Given the description of an element on the screen output the (x, y) to click on. 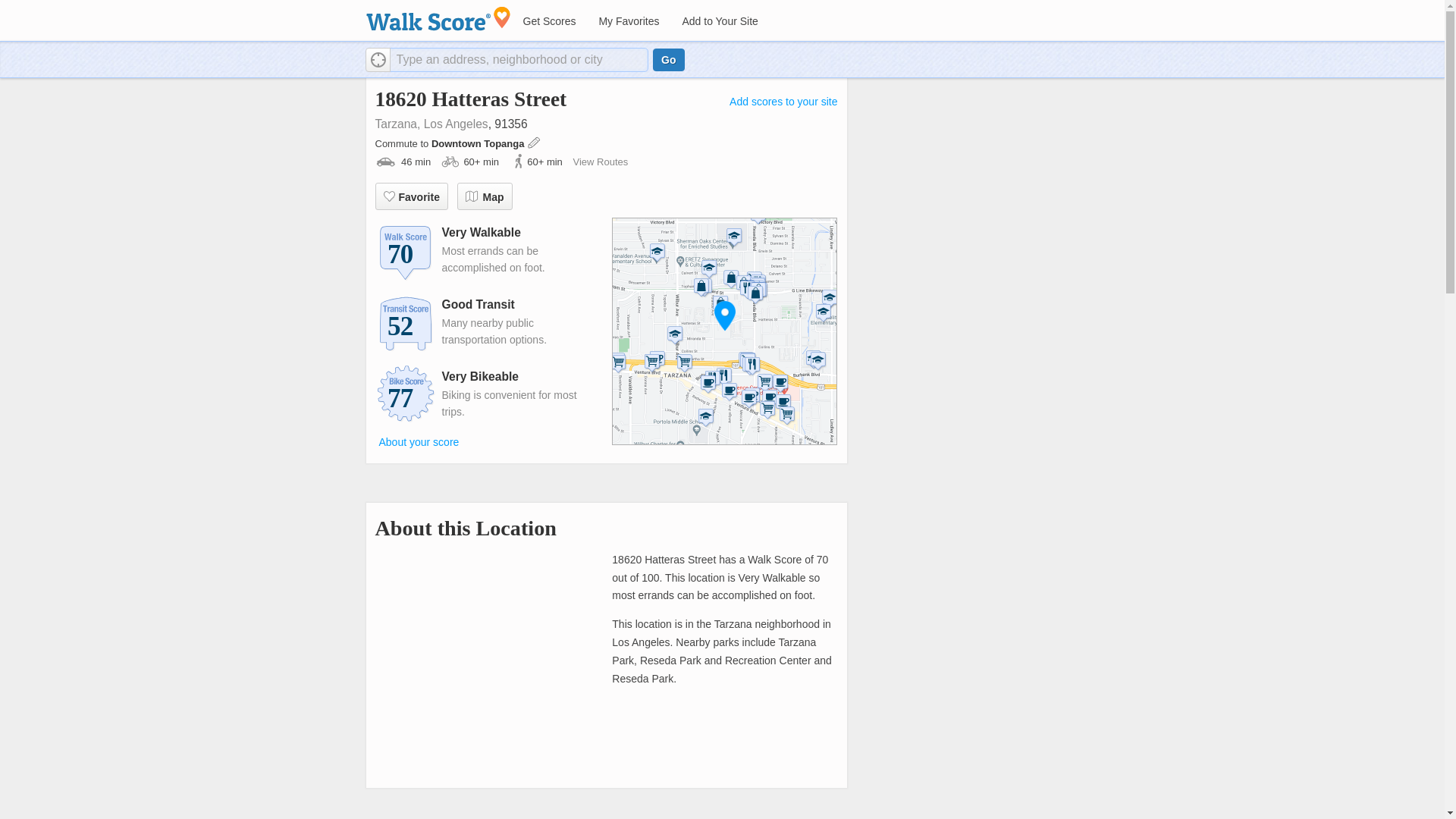
Go (668, 59)
View Routes (599, 161)
Add scores to your site (783, 101)
My Favorites (628, 21)
Get Scores (548, 21)
Favorite (410, 195)
Map (484, 195)
Tarzana, (397, 123)
Downtown Topanga (478, 143)
Add to Your Site (719, 21)
